Given the description of an element on the screen output the (x, y) to click on. 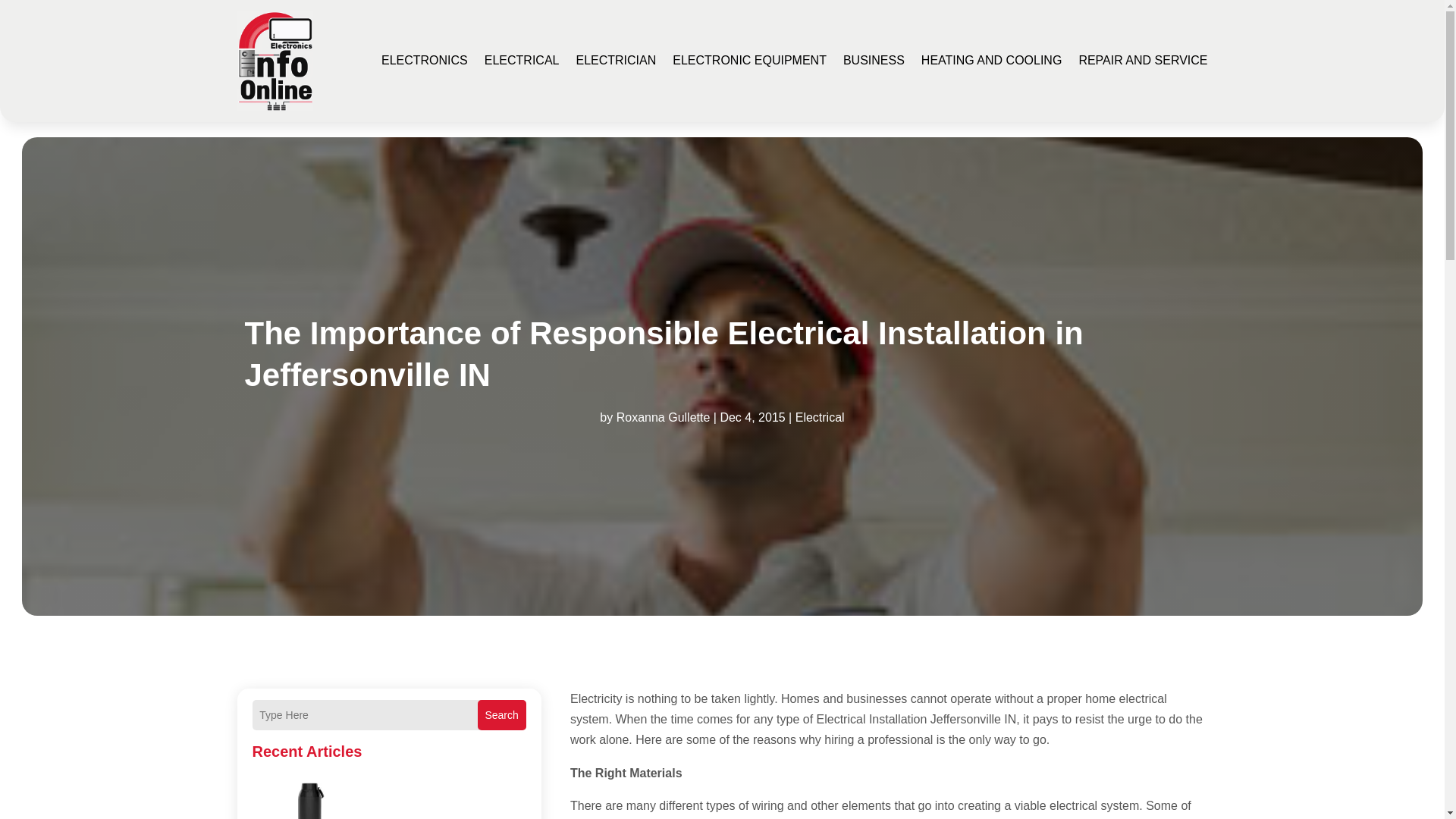
Roxanna Gullette (662, 417)
Search (501, 715)
Electrical (819, 417)
ELECTRONIC EQUIPMENT (749, 60)
Posts by Roxanna Gullette (662, 417)
REPAIR AND SERVICE (1142, 60)
HEATING AND COOLING (991, 60)
